Given the description of an element on the screen output the (x, y) to click on. 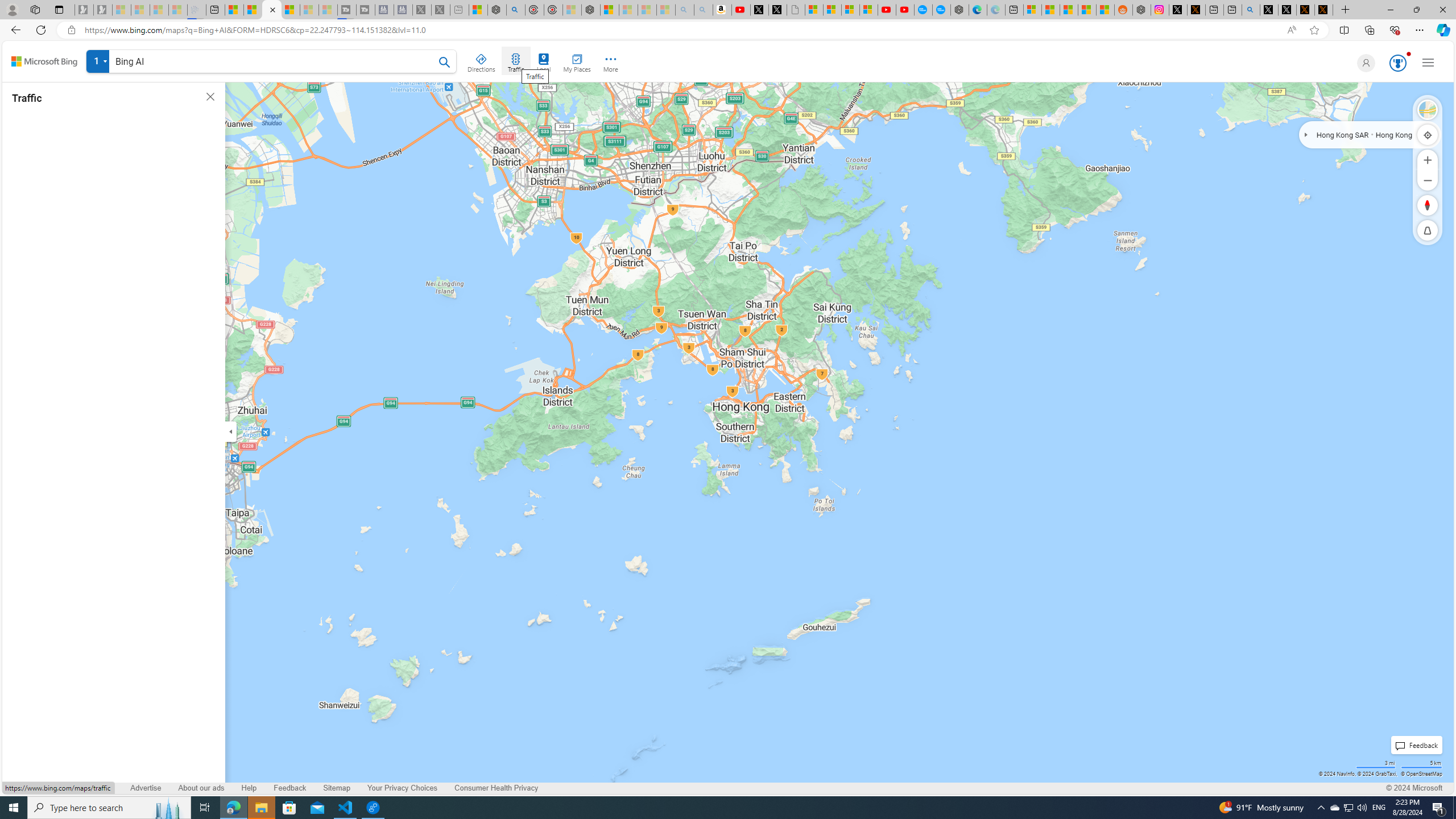
Sitemap (336, 787)
Locate me (1427, 134)
Advertise (146, 787)
Help (249, 787)
Traffic (514, 60)
Advertise (145, 787)
Bird's eye (1427, 109)
Legal (103, 787)
More (610, 60)
Nordace - Nordace Siena Is Not An Ordinary Backpack (590, 9)
Local (543, 60)
Amazon Echo Dot PNG - Search Images - Sleeping (702, 9)
Select Style (1427, 109)
1Bing AI (270, 62)
